Given the description of an element on the screen output the (x, y) to click on. 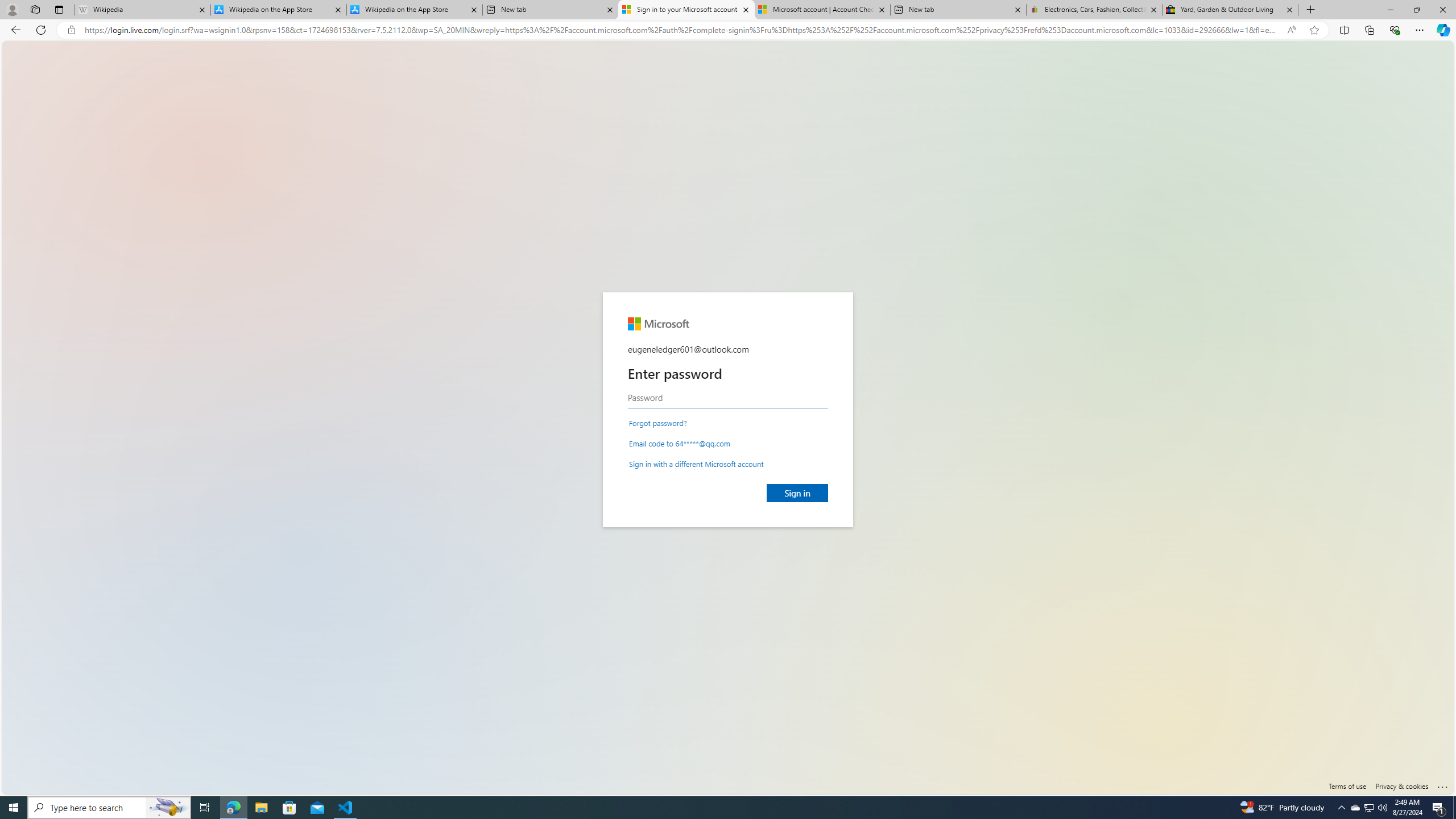
Terms of use (1347, 785)
Wikipedia - Sleeping (142, 9)
Sign in (797, 492)
Sign in with a different Microsoft account (696, 463)
Sign in to your Microsoft account (685, 9)
